Given the description of an element on the screen output the (x, y) to click on. 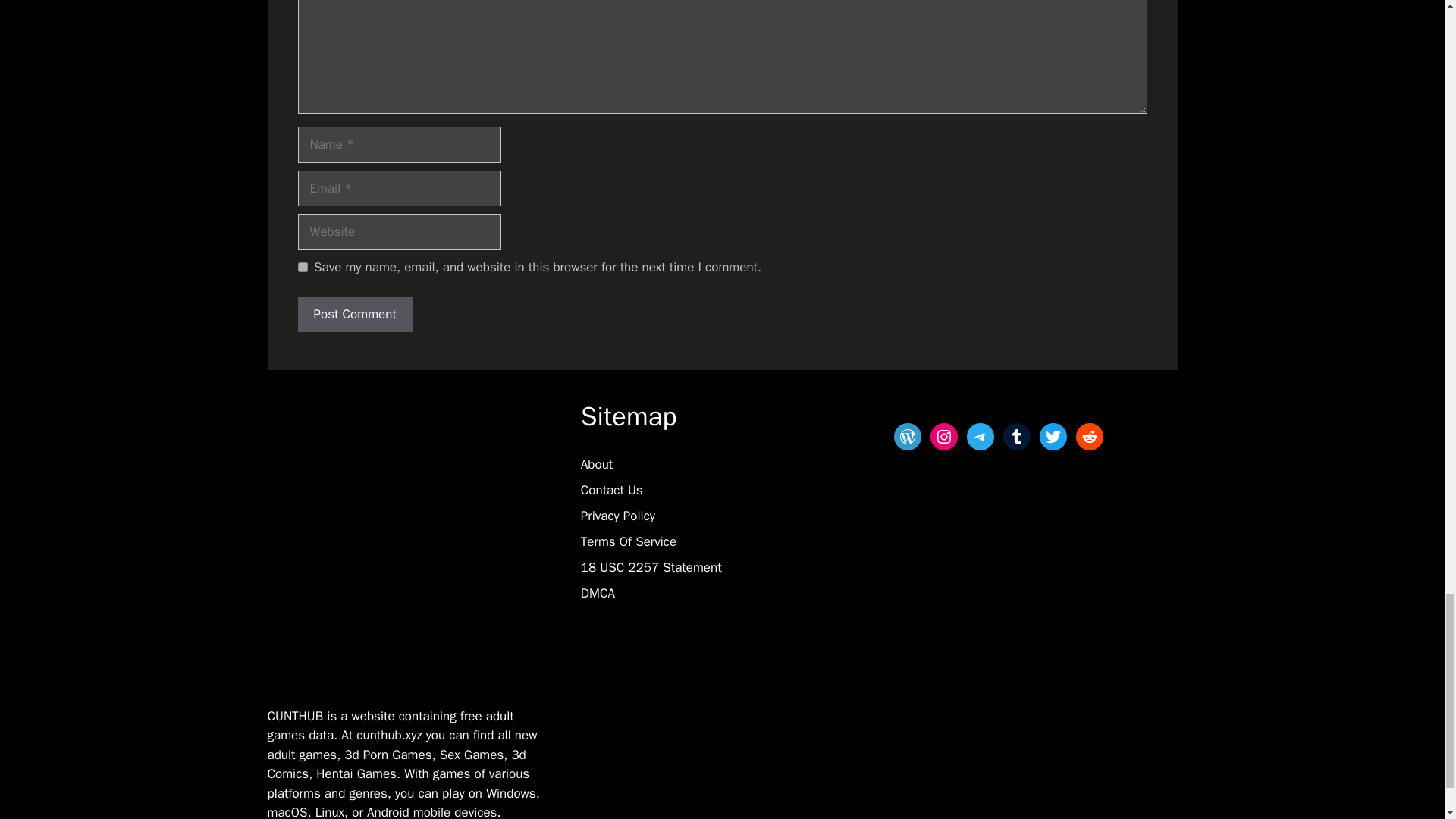
yes (302, 266)
DMCA.com Protection Status (618, 697)
Post Comment (354, 314)
